Given the description of an element on the screen output the (x, y) to click on. 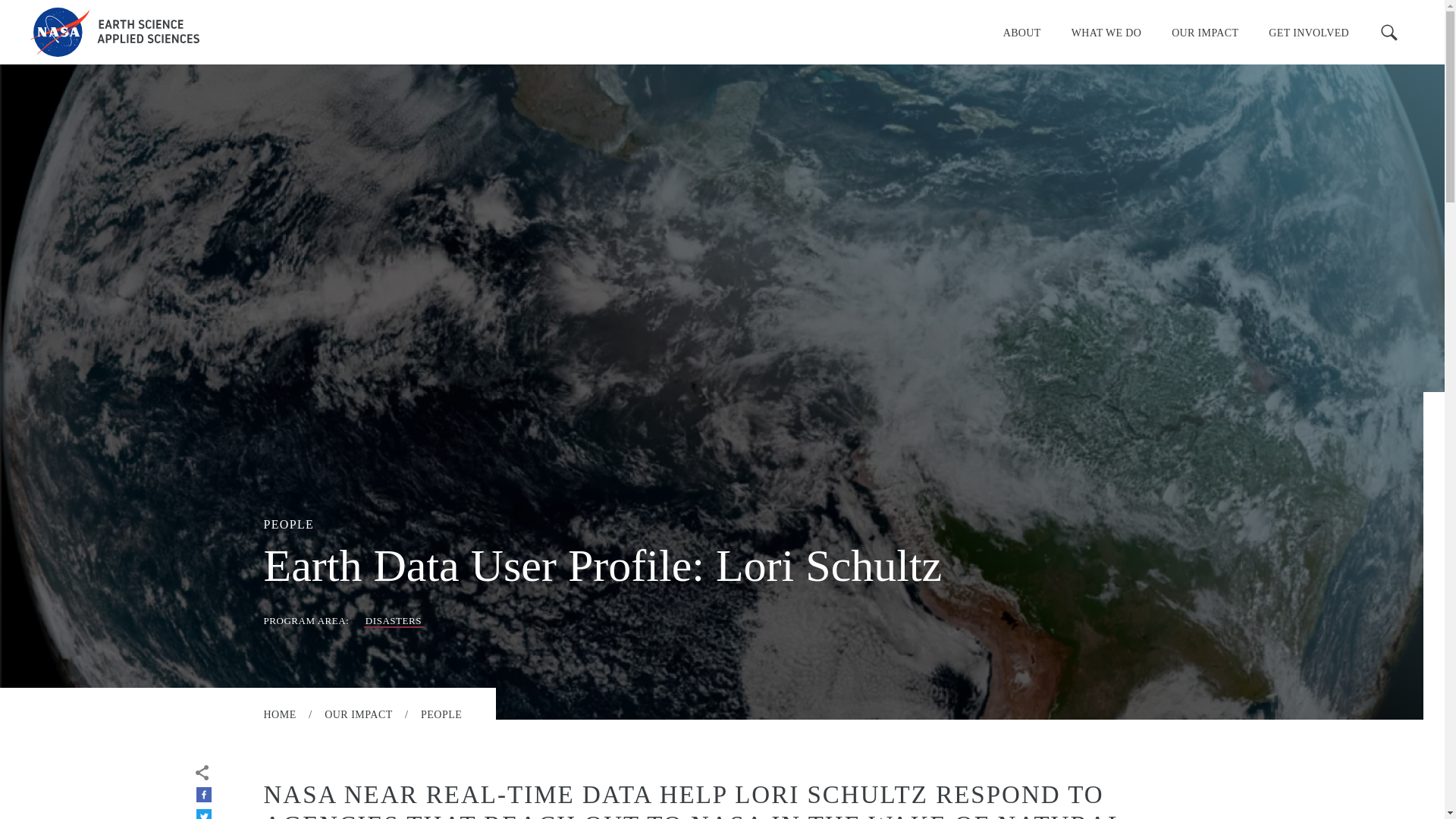
Home (114, 31)
WHAT WE DO (1106, 32)
ABOUT (1022, 32)
